Given the description of an element on the screen output the (x, y) to click on. 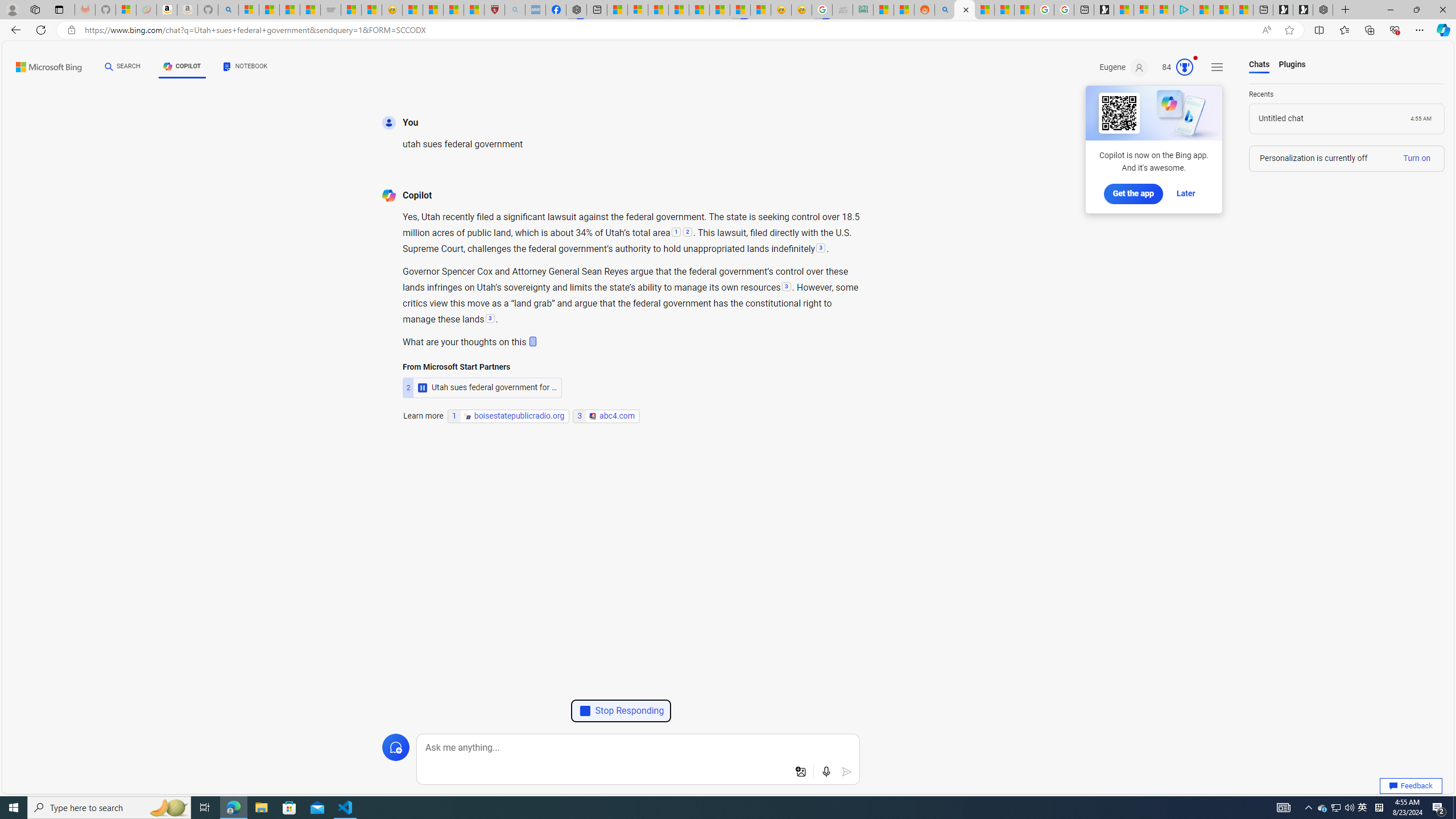
Microsoft Rewards 84 (1173, 67)
Copilot is now on the Bing app. And it's awesome. (1153, 129)
2Utah sues federal government for control of public lands (482, 364)
Get the app (1133, 193)
SEARCH (122, 66)
Submit (847, 771)
